Given the description of an element on the screen output the (x, y) to click on. 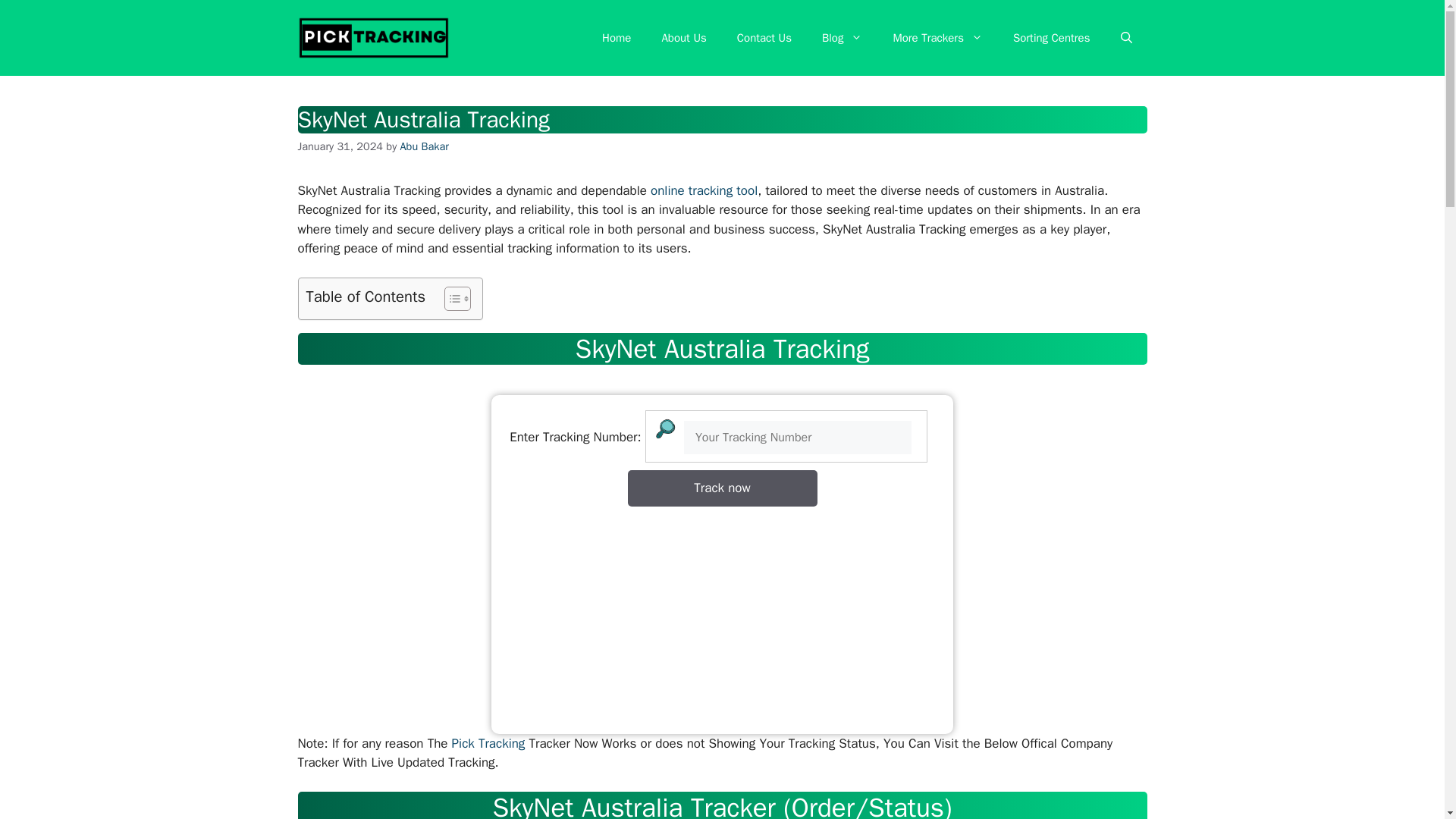
Sorting Centres (1051, 37)
About Us (683, 37)
View all posts by Abu Bakar (424, 146)
Advertisement (721, 612)
Pick Tracking (488, 743)
More Trackers (937, 37)
online tracking tool (703, 190)
Home (616, 37)
Blog (841, 37)
Contact Us (764, 37)
Abu Bakar (424, 146)
Track now (721, 488)
